Given the description of an element on the screen output the (x, y) to click on. 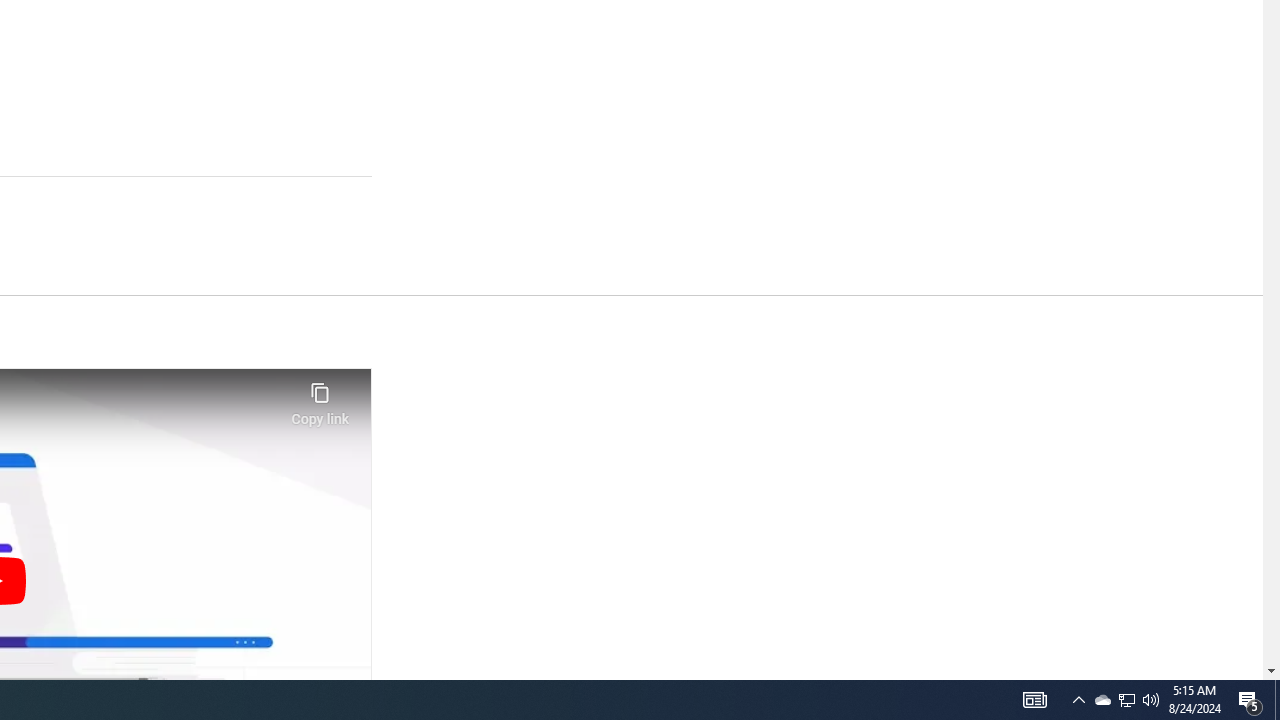
Copy link (319, 398)
